Given the description of an element on the screen output the (x, y) to click on. 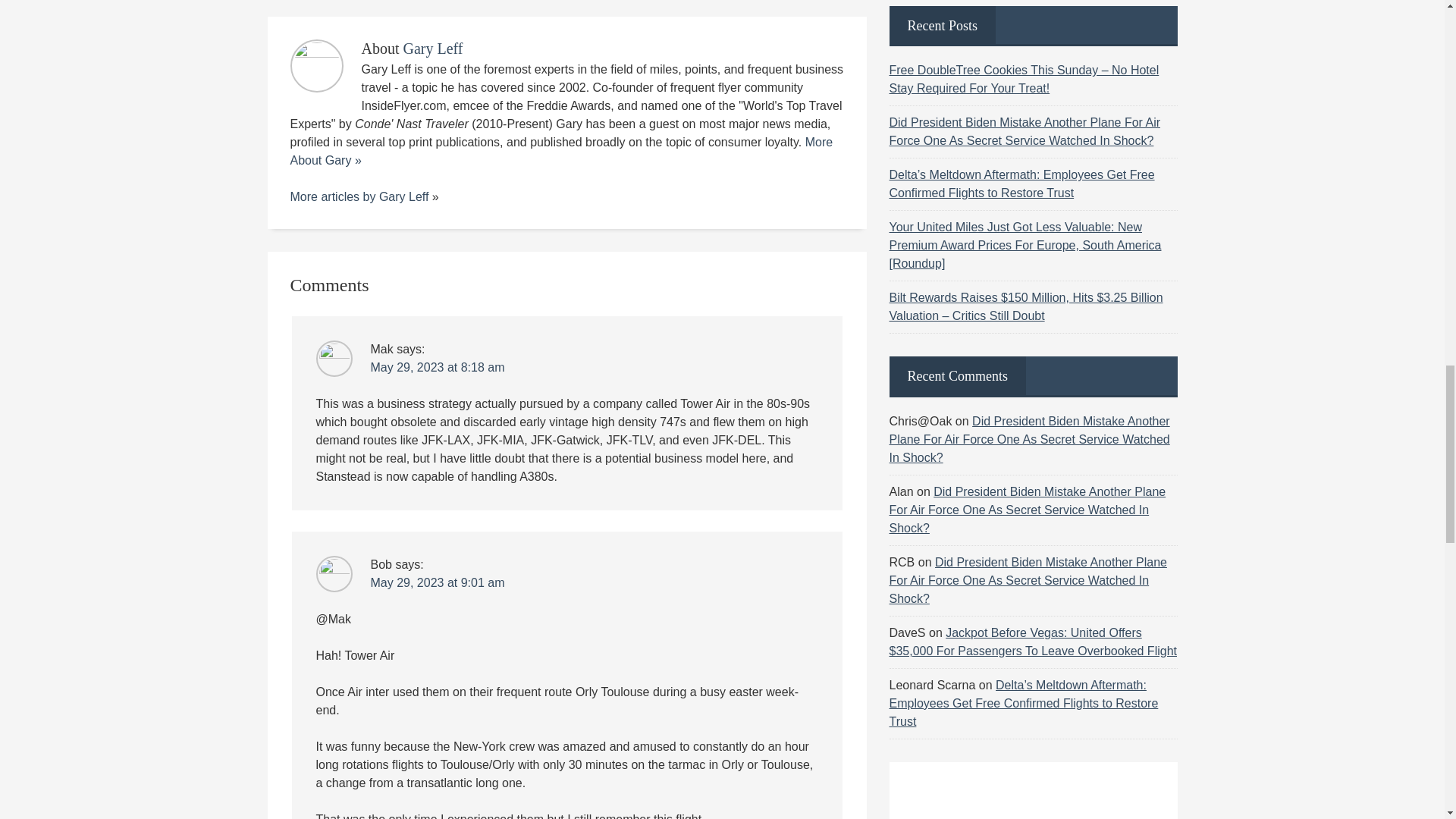
May 29, 2023 at 8:18 am (436, 367)
More articles by (333, 196)
Gary Leff (433, 48)
May 29, 2023 at 9:01 am (436, 582)
Gary Leff (403, 196)
